Given the description of an element on the screen output the (x, y) to click on. 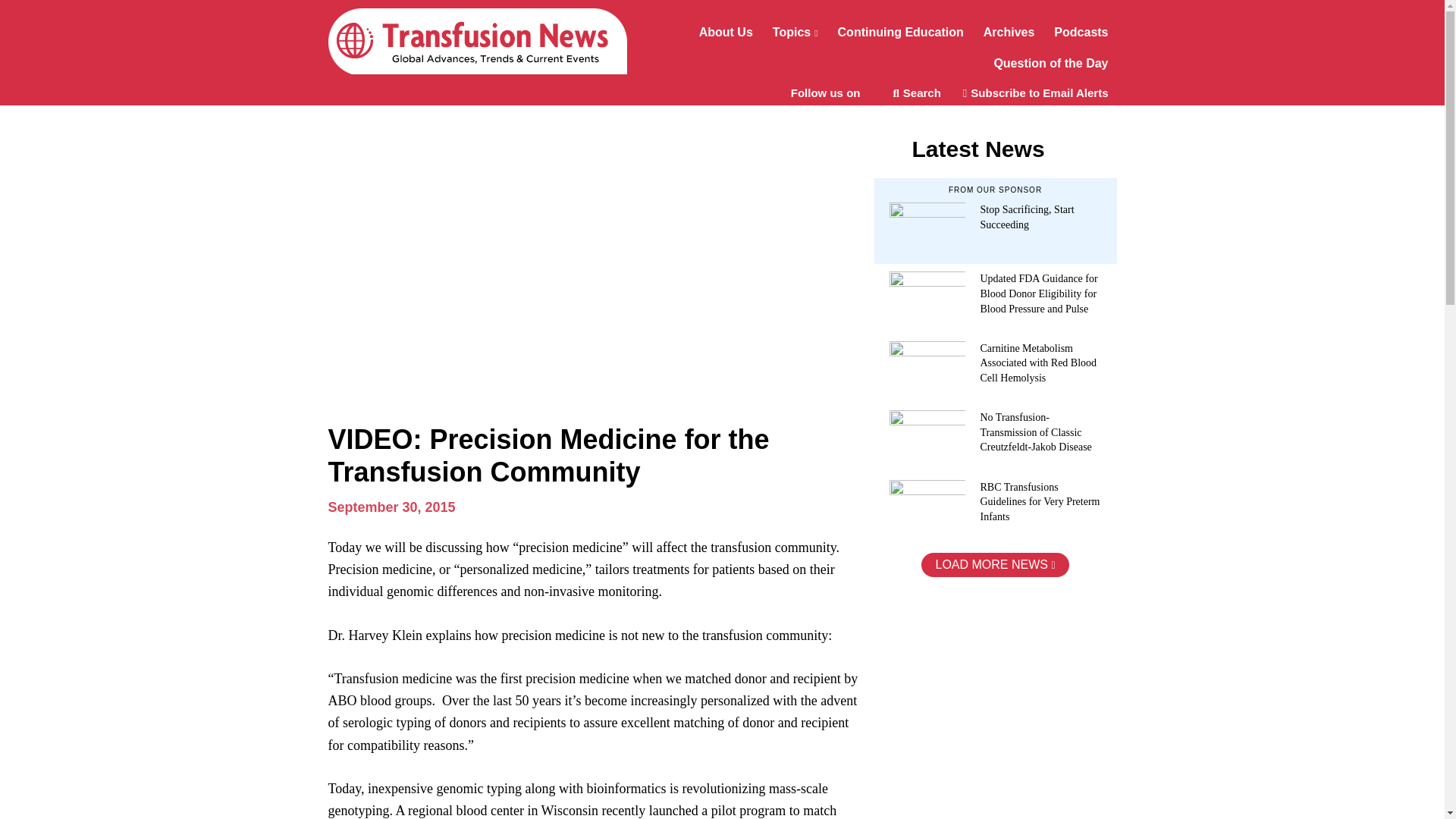
About Us (725, 33)
Follow us on (831, 92)
Continuing Education (900, 33)
Question of the Day (1050, 65)
Transfusion News (476, 41)
Subscribe to Email Alerts (1035, 93)
Topics (795, 33)
Archives (1009, 33)
Podcasts (1080, 33)
